Given the description of an element on the screen output the (x, y) to click on. 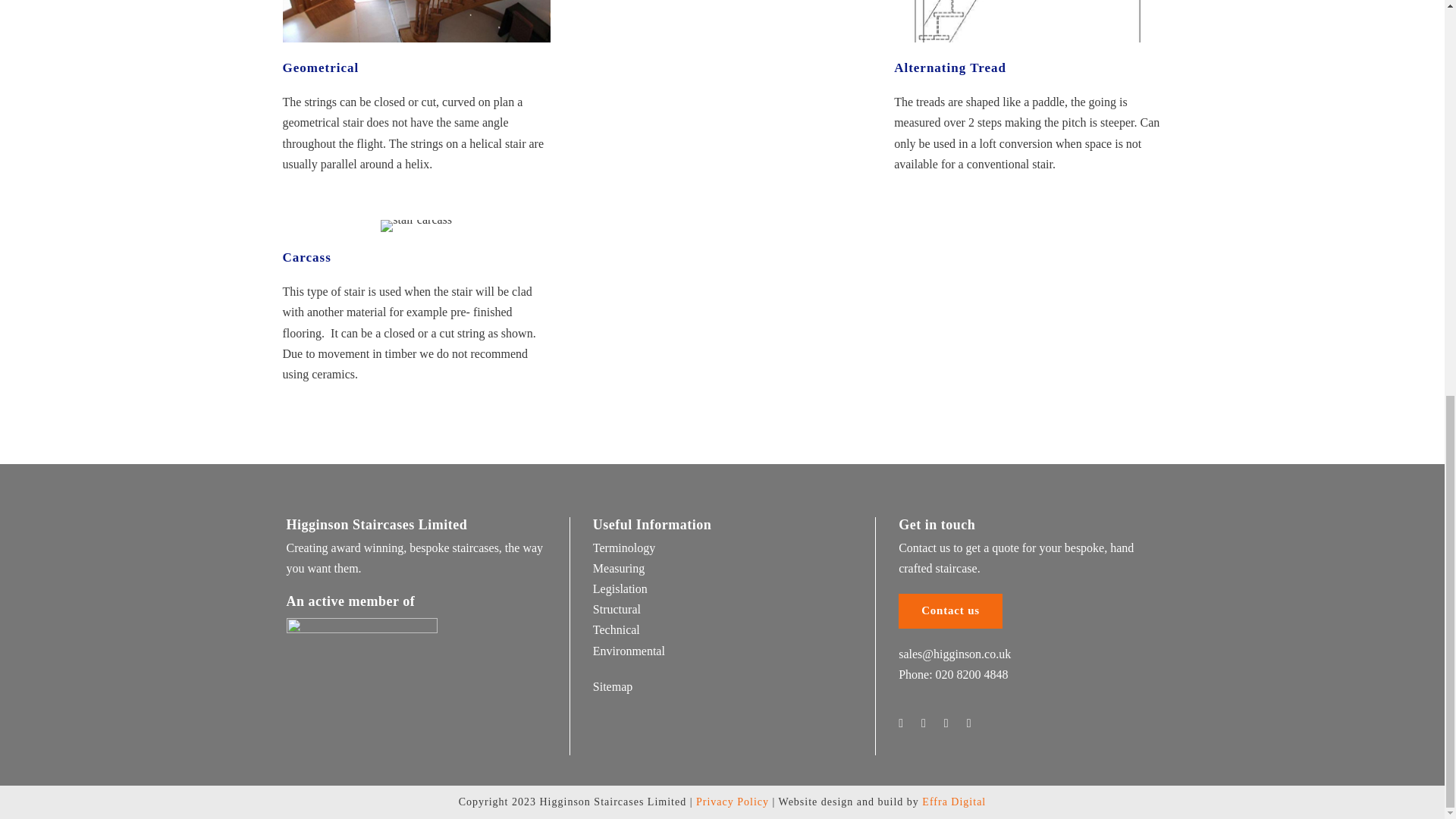
carcass (415, 225)
geometrical (416, 21)
alternating-tread (1027, 21)
